Given the description of an element on the screen output the (x, y) to click on. 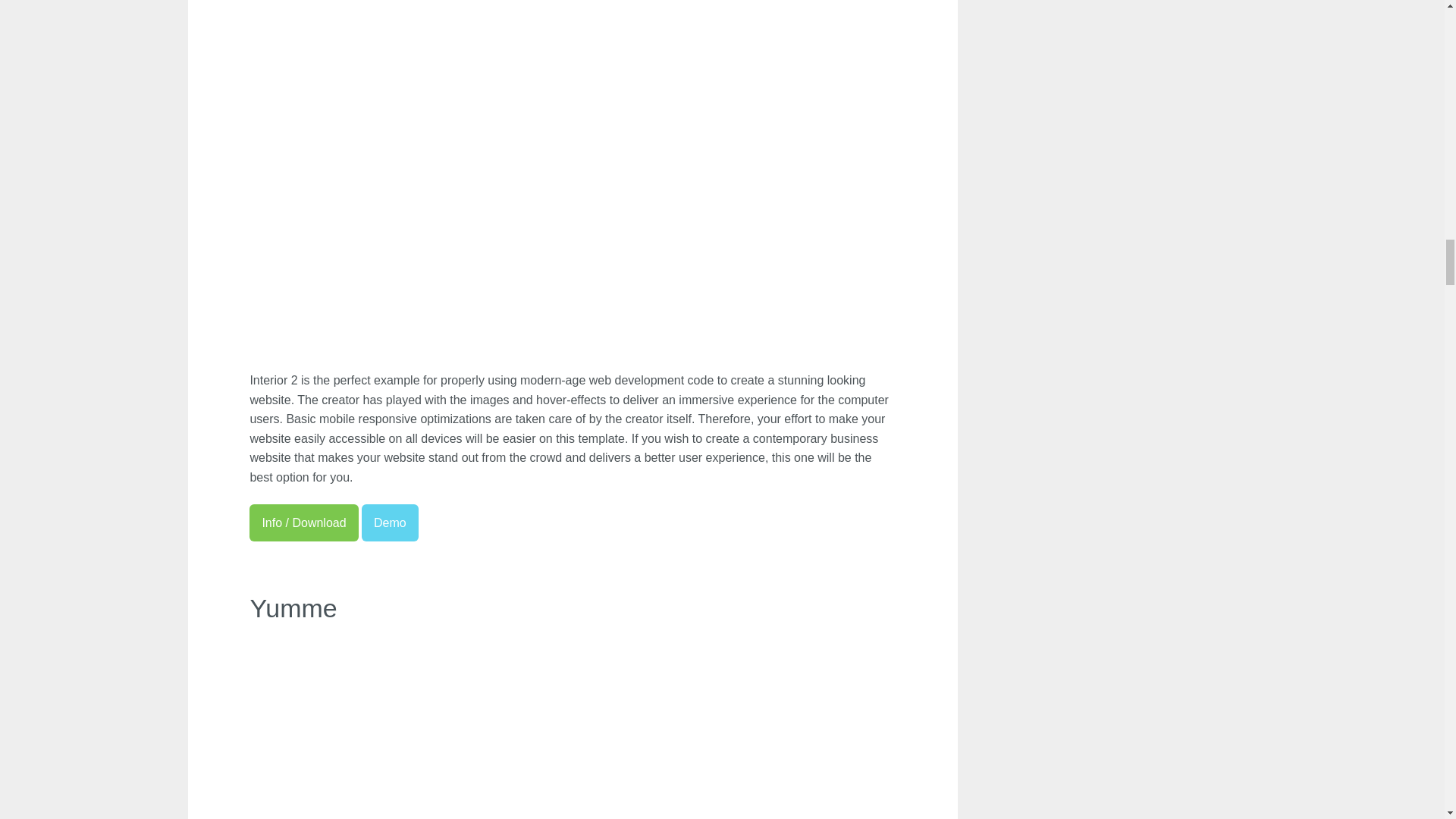
Demo (390, 522)
